Given the description of an element on the screen output the (x, y) to click on. 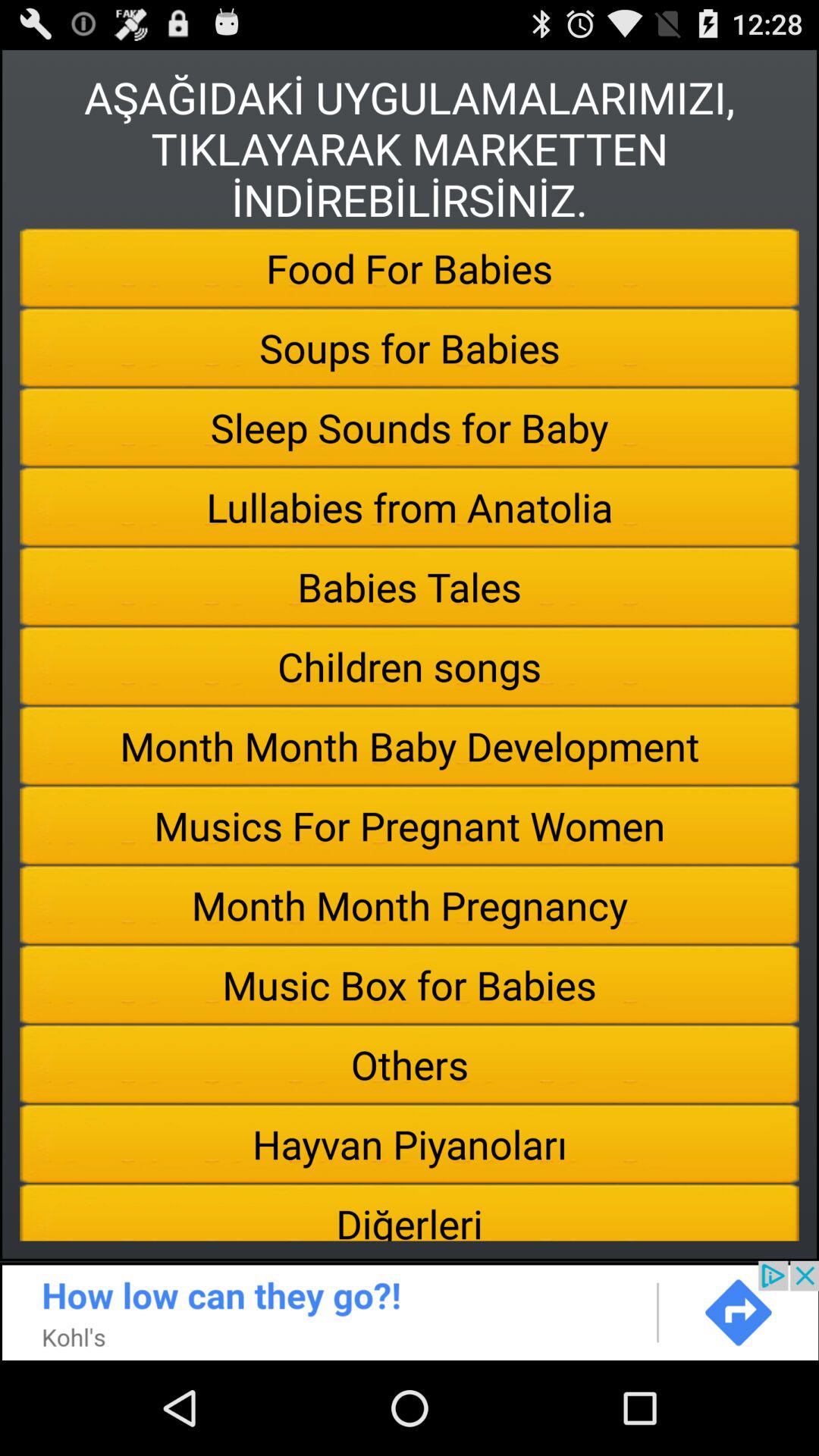
advertising area (409, 1310)
